Given the description of an element on the screen output the (x, y) to click on. 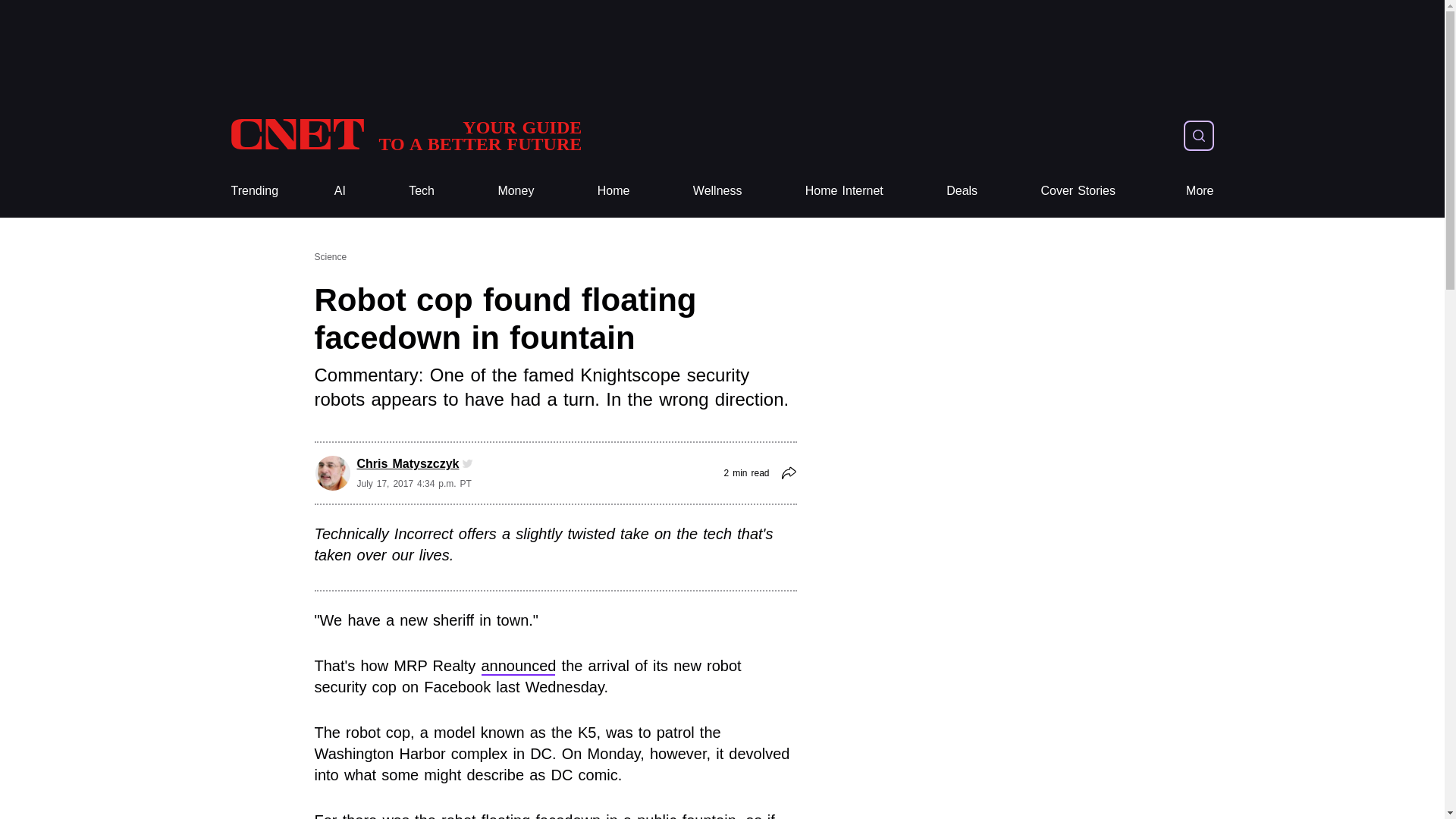
Tech (421, 190)
More (1199, 190)
Money (515, 190)
Home Internet (844, 190)
Home Internet (844, 190)
Home (613, 190)
Money (515, 190)
Tech (421, 190)
Cover Stories (405, 135)
